Given the description of an element on the screen output the (x, y) to click on. 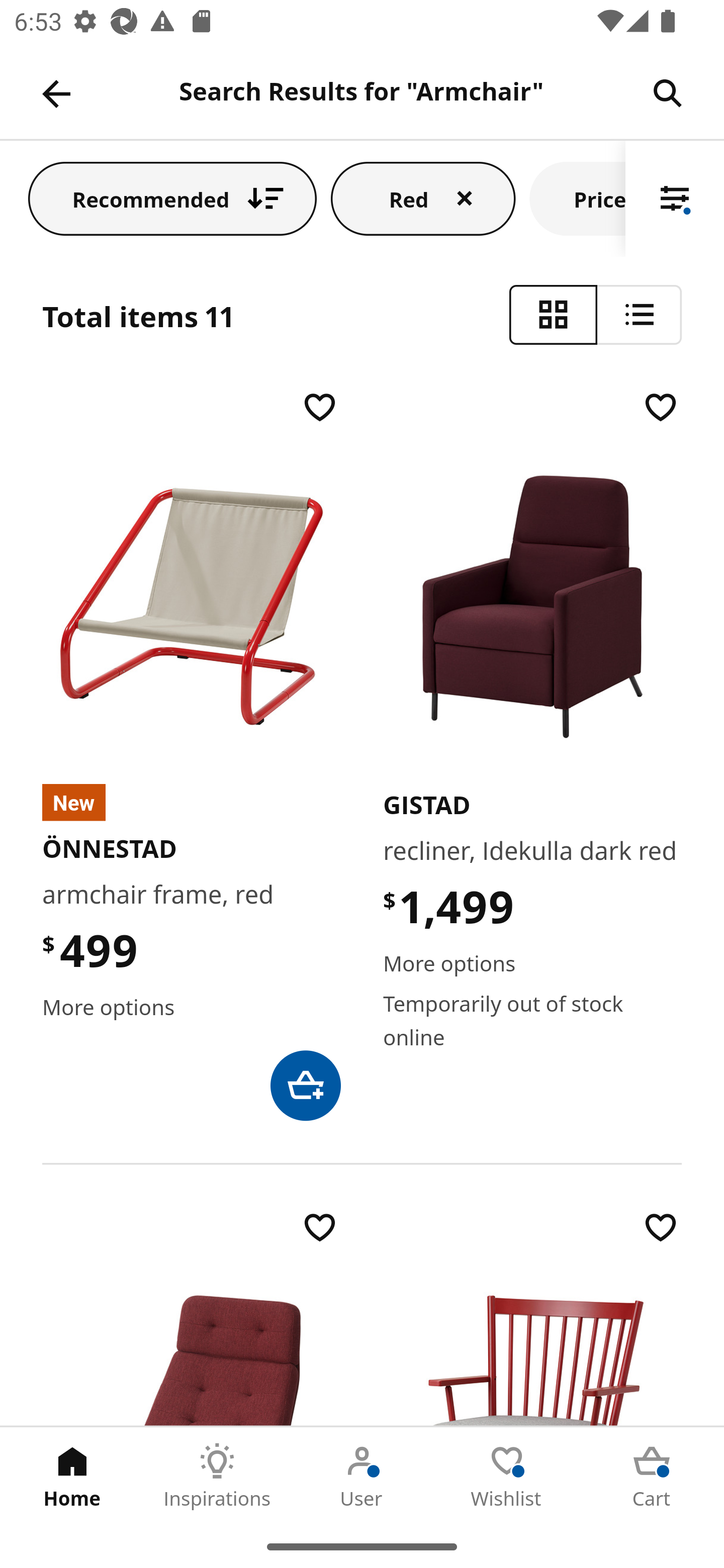
Recommended (172, 198)
Red (422, 198)
Home
Tab 1 of 5 (72, 1476)
Inspirations
Tab 2 of 5 (216, 1476)
User
Tab 3 of 5 (361, 1476)
Wishlist
Tab 4 of 5 (506, 1476)
Cart
Tab 5 of 5 (651, 1476)
